Given the description of an element on the screen output the (x, y) to click on. 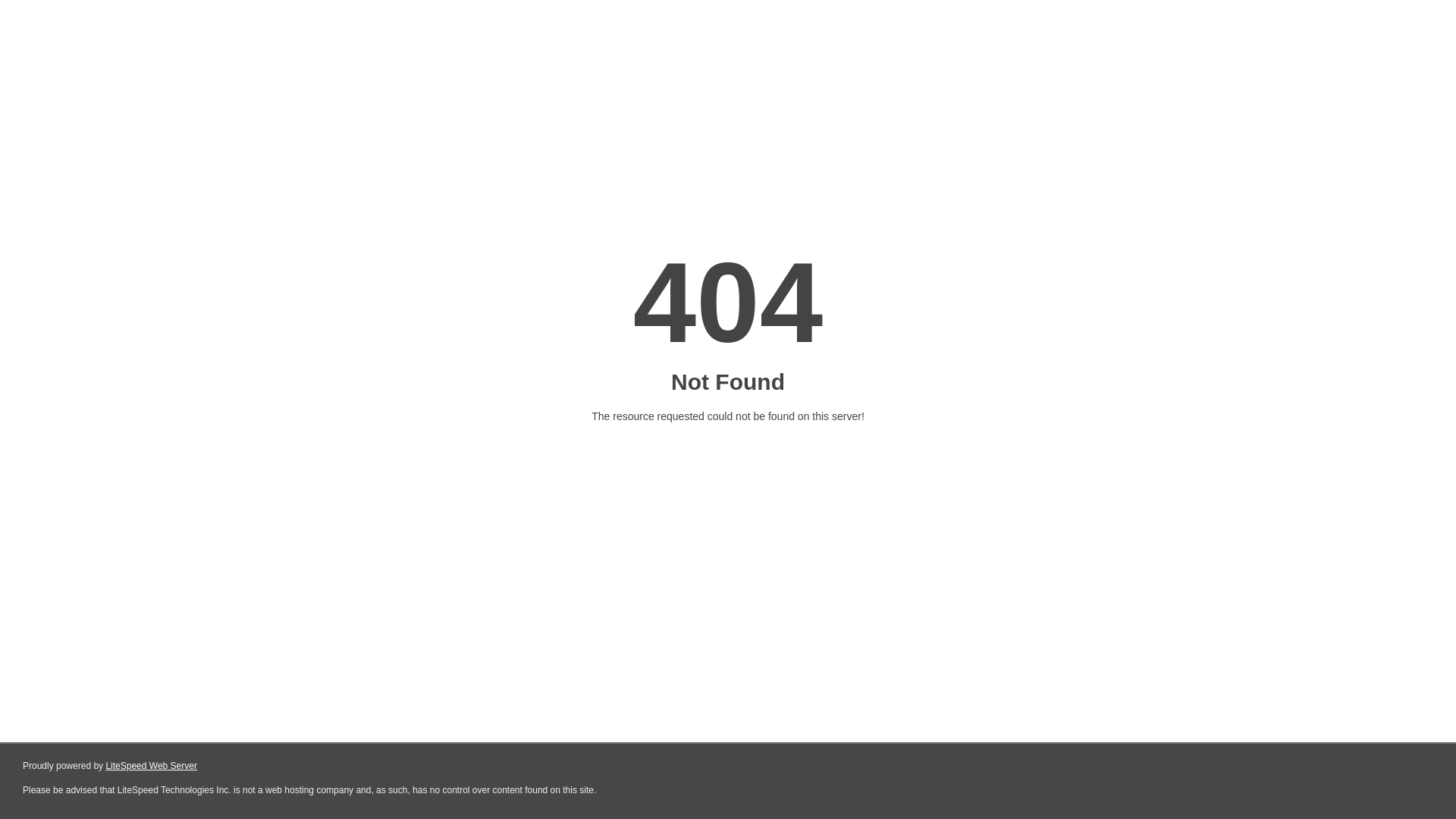
LiteSpeed Web Server Element type: text (151, 765)
